Given the description of an element on the screen output the (x, y) to click on. 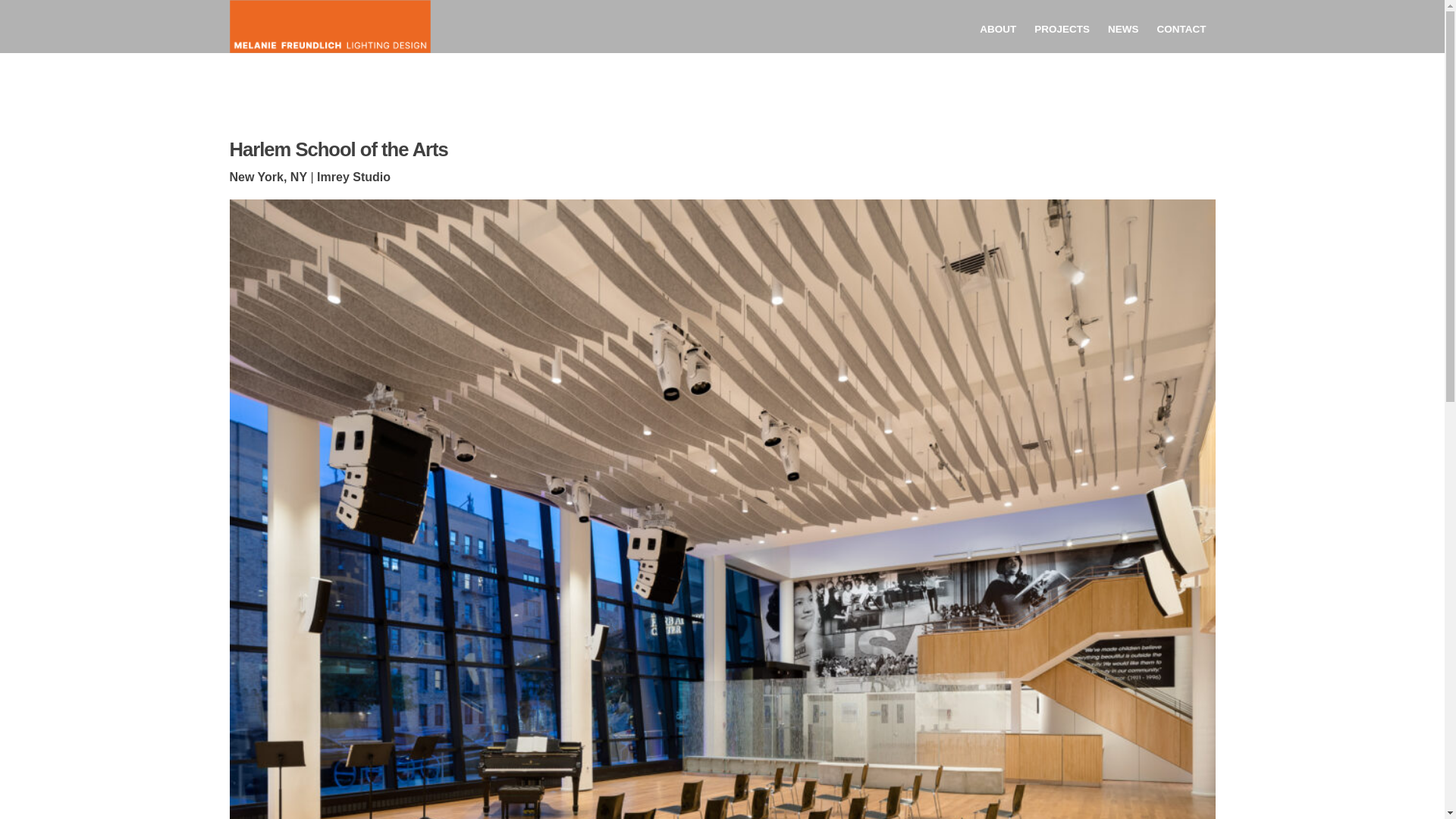
NEWS (1123, 30)
CONTACT (1181, 30)
ABOUT (998, 34)
mfldesign (273, 84)
PROJECTS (1062, 32)
